Given the description of an element on the screen output the (x, y) to click on. 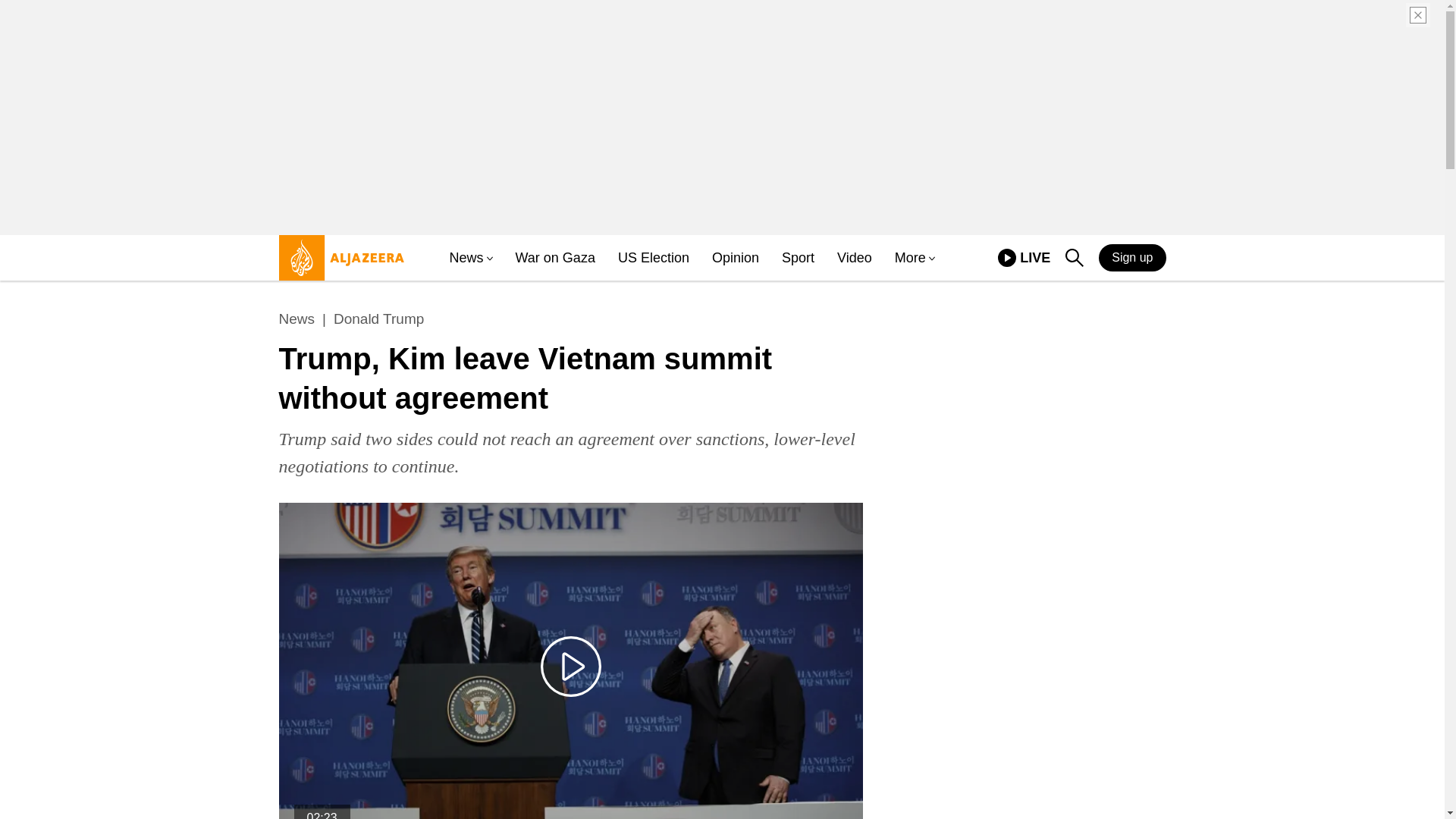
Sport (797, 257)
search (1074, 257)
News (465, 257)
Donald Trump (1023, 257)
More (378, 319)
play video (910, 257)
Skip to Content (569, 666)
Video (337, 264)
War on Gaza (854, 257)
Sign up (555, 257)
play (1132, 257)
US Election (1006, 257)
Opinion (652, 257)
News (734, 257)
